Given the description of an element on the screen output the (x, y) to click on. 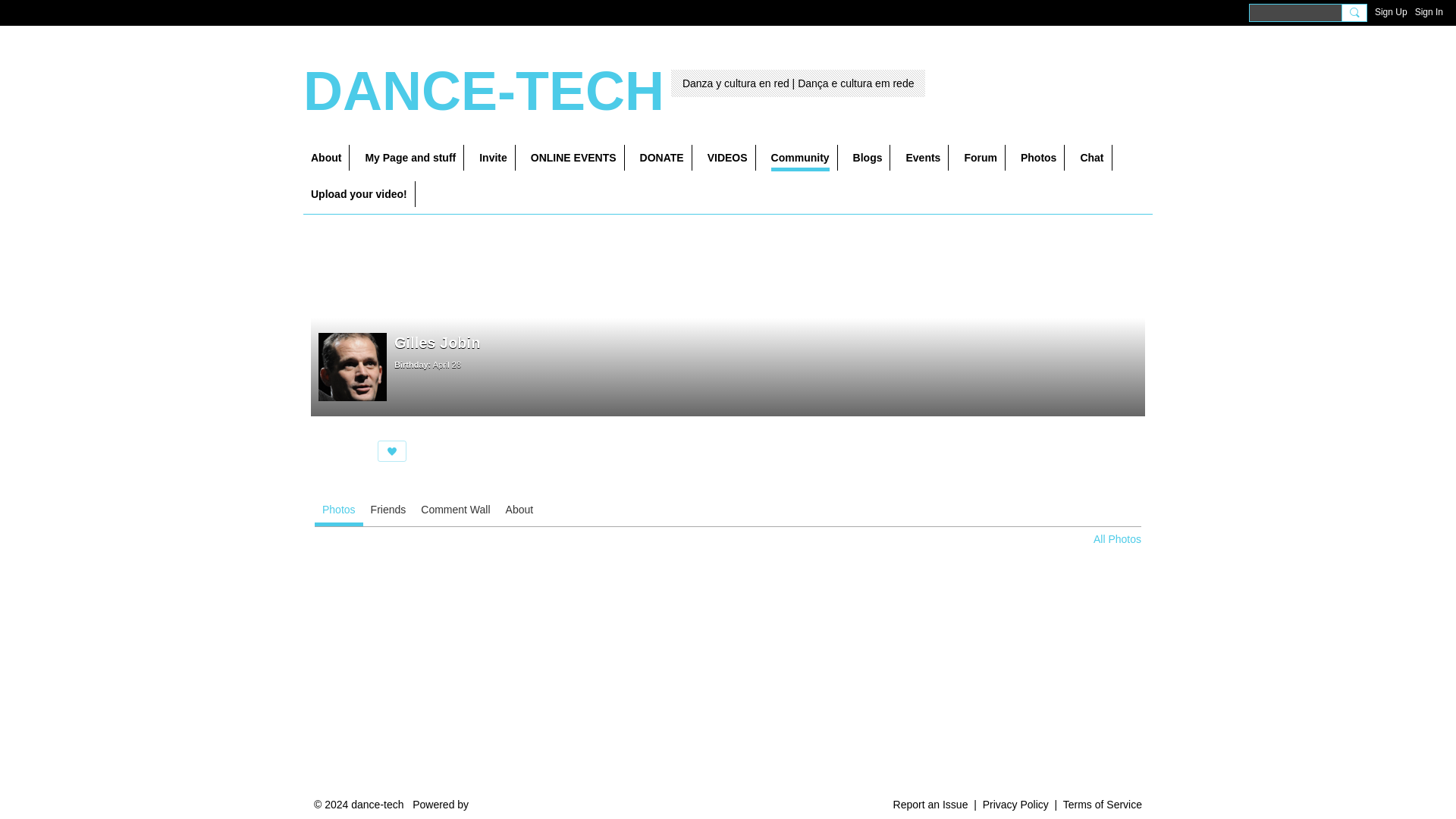
Events (923, 157)
Community (800, 157)
Like (391, 450)
Invite (493, 157)
Photos (1038, 157)
DONATE (662, 157)
My Page and stuff (410, 157)
DANCE-TECH (482, 90)
ONLINE EVENTS (573, 157)
Sign Up (1390, 12)
Chat (1091, 157)
Upload your video! (358, 193)
Sign In (1428, 12)
Forum (981, 157)
About (325, 157)
